Given the description of an element on the screen output the (x, y) to click on. 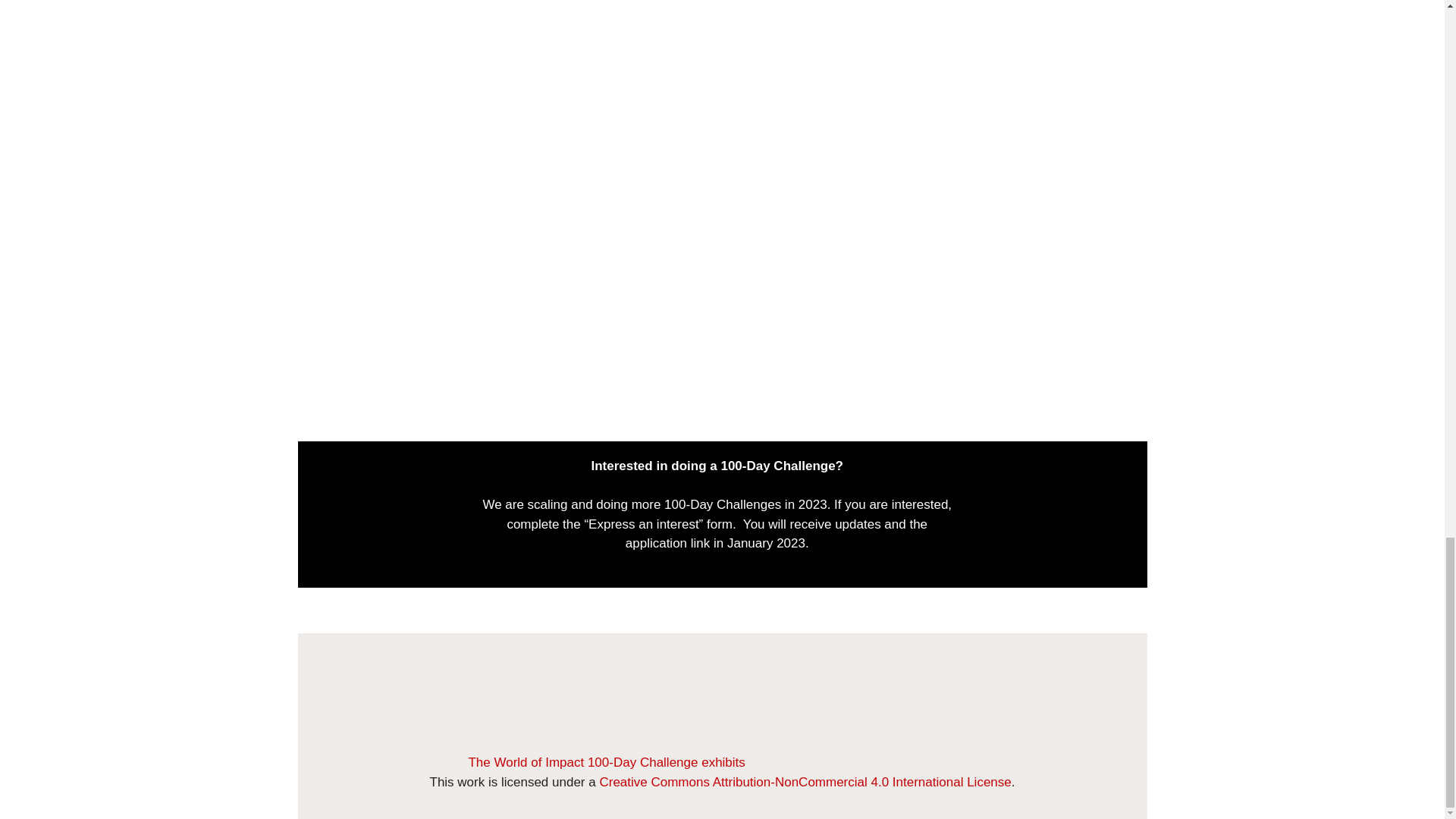
The World of Impact 100-Day Challenge exhibits (721, 762)
